Given the description of an element on the screen output the (x, y) to click on. 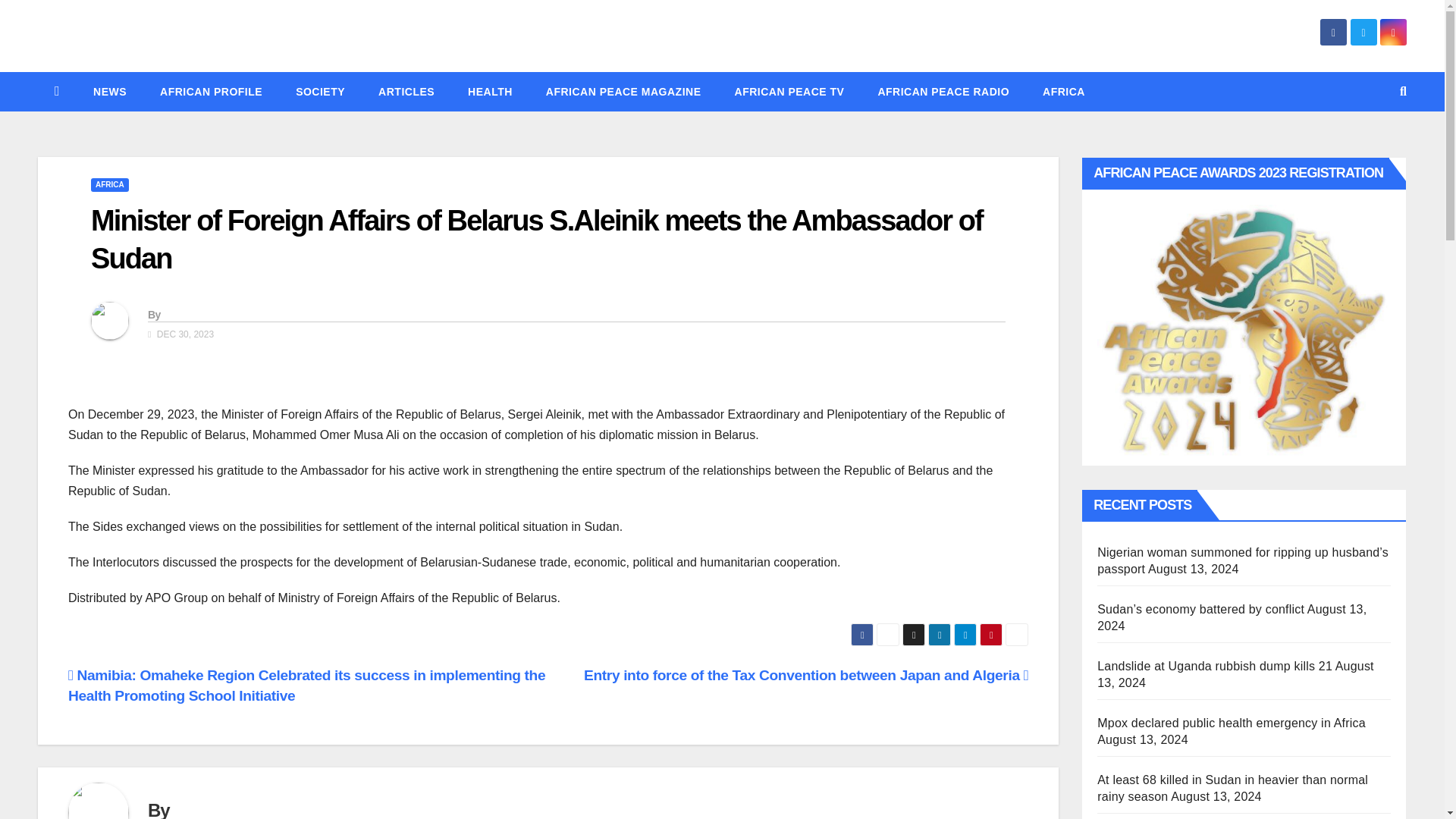
NEWS (109, 91)
Society (320, 91)
HEALTH (490, 91)
AFRICA (109, 184)
AFRICAN PEACE RADIO (943, 91)
African Profile (210, 91)
AFRICAN PROFILE (210, 91)
AFRICAN PEACE TV (789, 91)
